Given the description of an element on the screen output the (x, y) to click on. 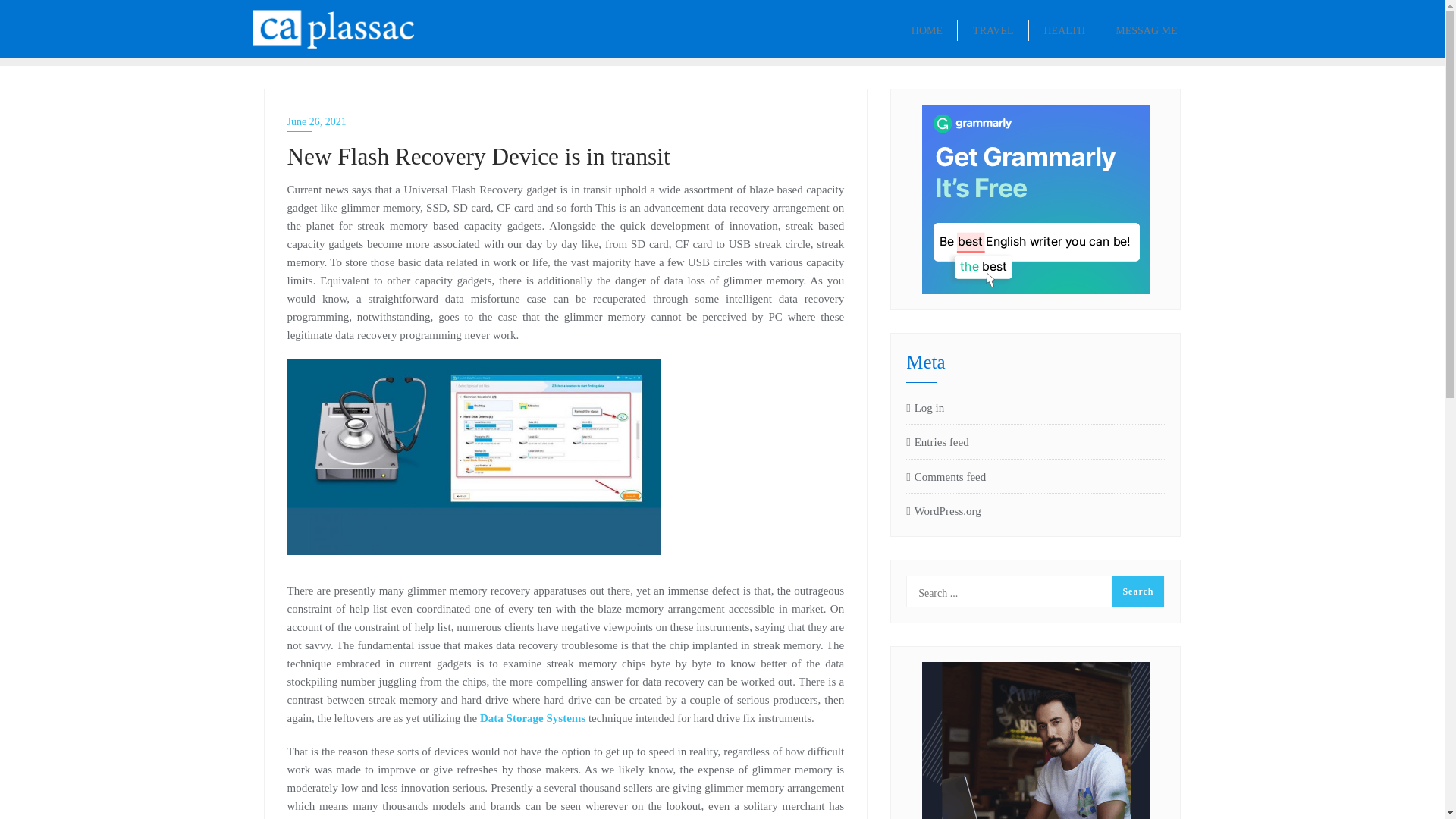
Log in (1034, 407)
Entries feed (1034, 442)
Data Storage Systems (532, 717)
Search (1137, 591)
HOME (927, 29)
June 26, 2021 (565, 121)
MESSAG ME (1146, 29)
TRAVEL (992, 29)
Search (1137, 591)
HEALTH (1063, 29)
Comments feed (1034, 476)
WordPress.org (1034, 510)
Search (1137, 591)
